Given the description of an element on the screen output the (x, y) to click on. 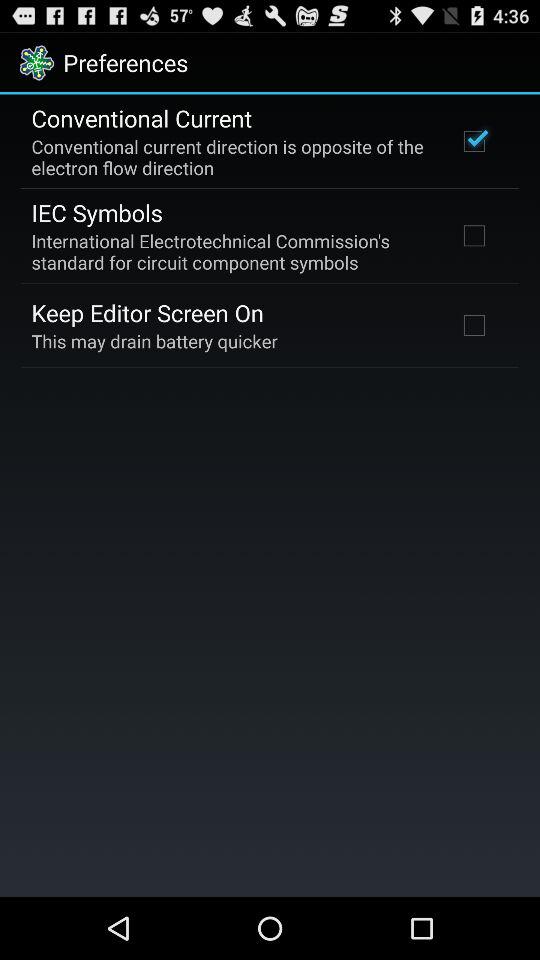
turn off the item above the this may drain app (147, 312)
